Given the description of an element on the screen output the (x, y) to click on. 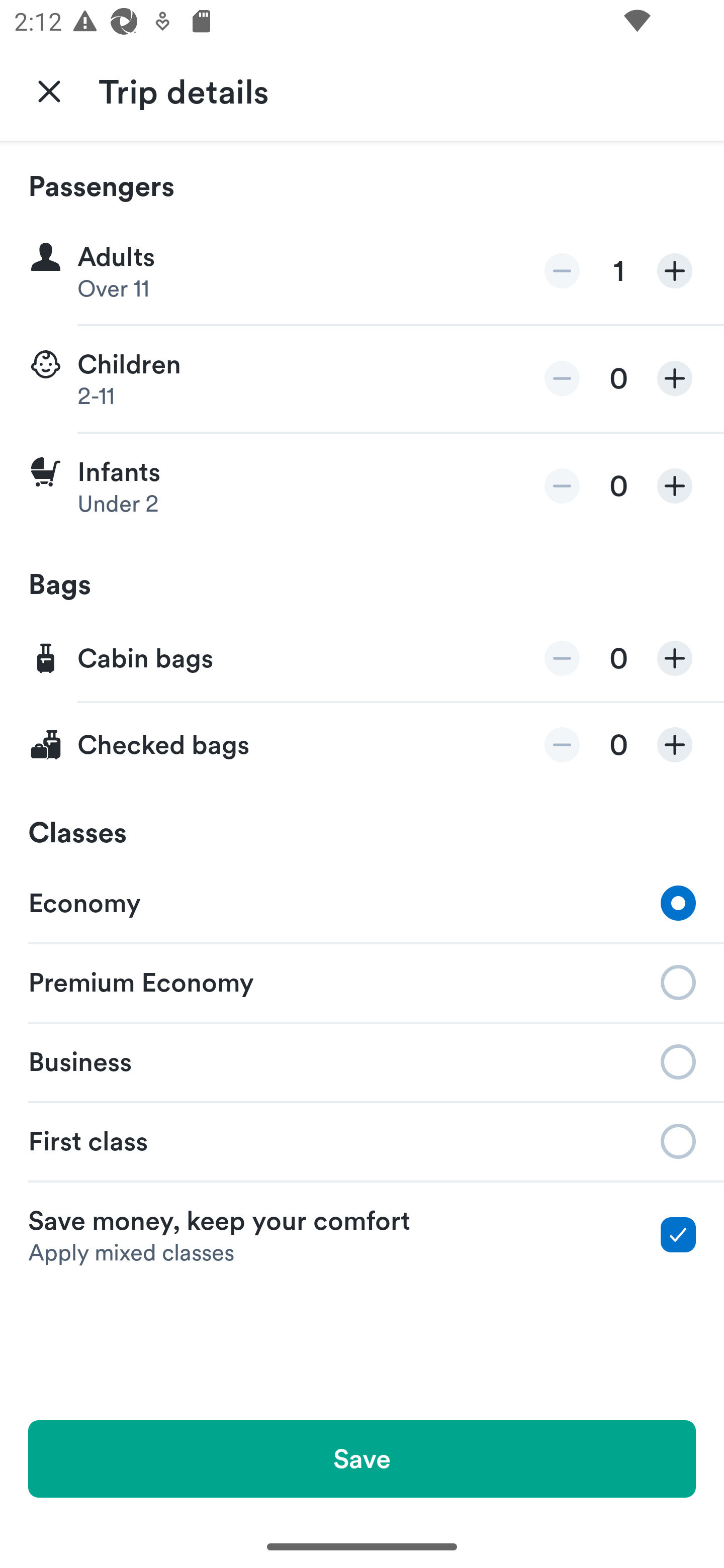
Navigate up (49, 90)
Remove 1 Add Adults Over 11 (362, 271)
Remove (561, 270)
Add (674, 270)
Remove 0 Add Children 2-11 (362, 379)
Remove (561, 377)
Add (674, 377)
Remove 0 Add Infants Under 2 (362, 485)
Remove (561, 485)
Add (674, 485)
Remove 0 Add Cabin bags (362, 659)
Remove (561, 658)
Add (674, 658)
Remove 0 Add Checked bags (362, 744)
Remove (561, 744)
Add (674, 744)
Premium Economy (362, 980)
Business (362, 1060)
First class (362, 1141)
Save (361, 1458)
